Given the description of an element on the screen output the (x, y) to click on. 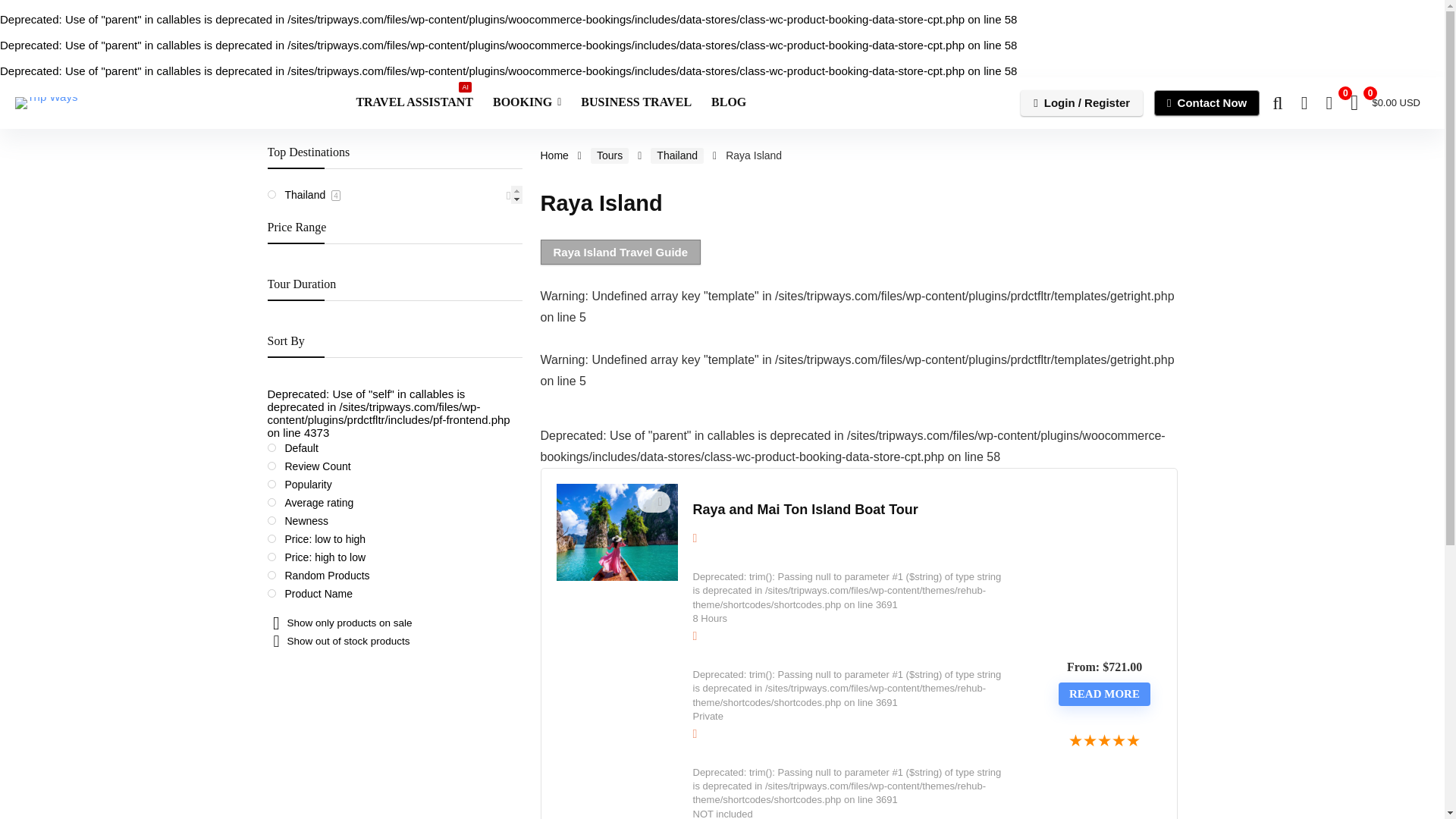
BOOKING (414, 102)
Rated 5 out of 5 (526, 102)
Thailand 4 (1104, 741)
